Given the description of an element on the screen output the (x, y) to click on. 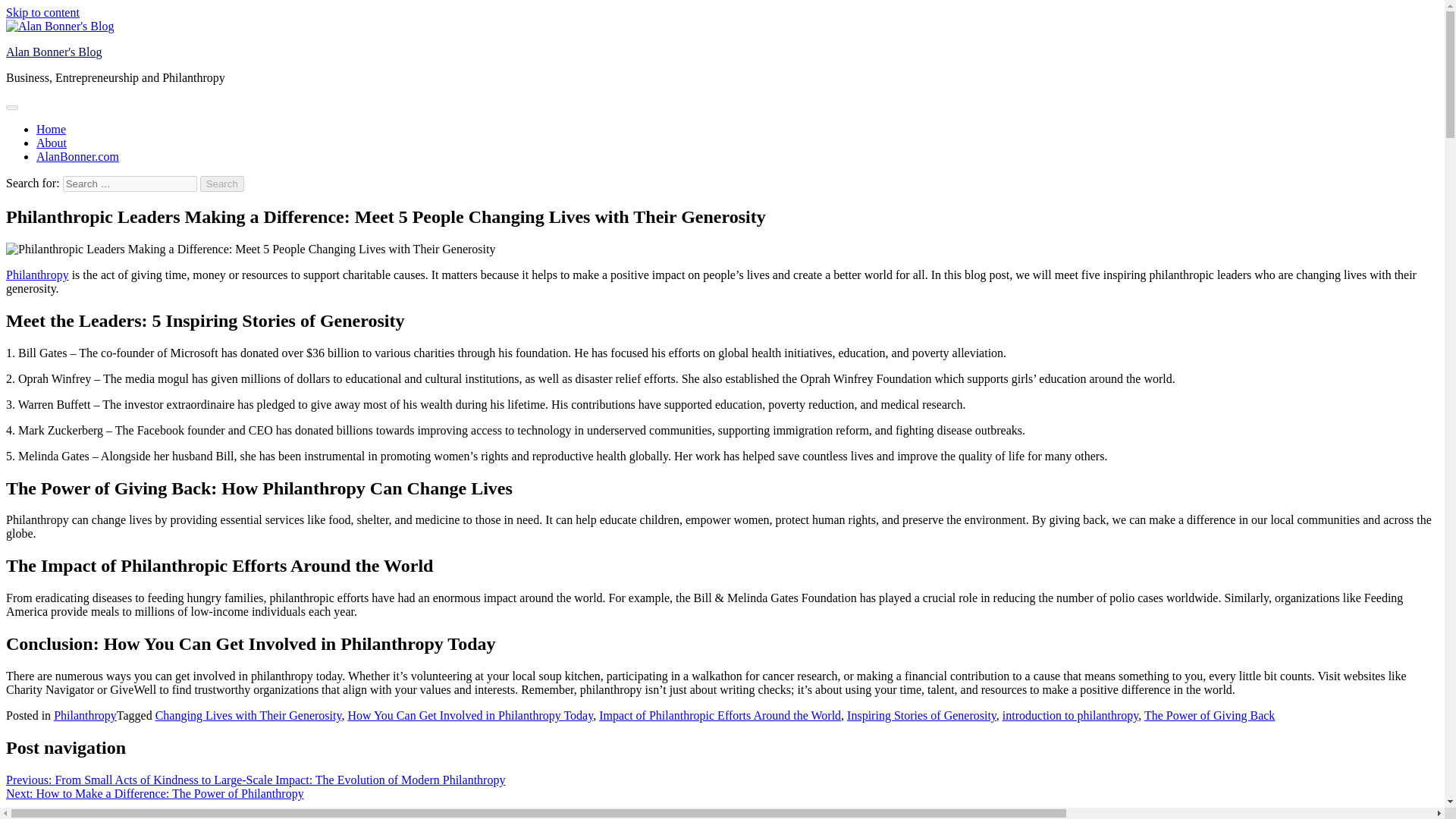
introduction to philanthropy (1070, 715)
Impact of Philanthropic Efforts Around the World (719, 715)
Home (50, 128)
Skip to content (42, 11)
AlanBonner.com (77, 155)
Search (222, 183)
Philanthropy (84, 715)
Inspiring Stories of Generosity (921, 715)
Changing Lives with Their Generosity (248, 715)
Search (222, 183)
